Given the description of an element on the screen output the (x, y) to click on. 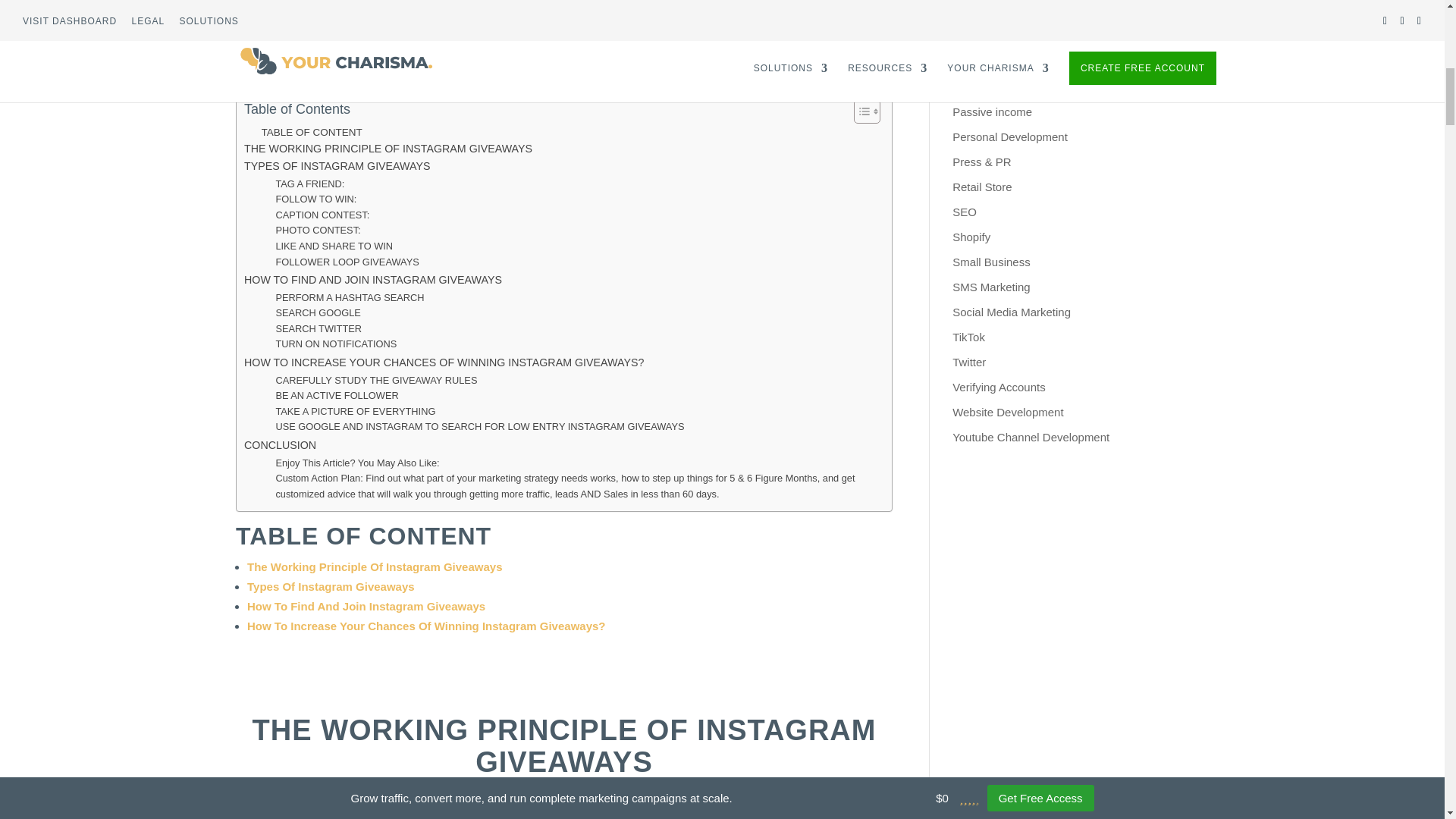
HOW TO FIND AND JOIN INSTAGRAM GIVEAWAYS (373, 280)
TAG A FRIEND: (309, 184)
TABLE OF CONTENT (310, 132)
TYPES OF INSTAGRAM GIVEAWAYS (336, 166)
FOLLOWER LOOP GIVEAWAYS (347, 262)
PERFORM A HASHTAG SEARCH (349, 298)
TYPES OF INSTAGRAM GIVEAWAYS (336, 166)
FOLLOW TO WIN: (315, 199)
LIKE AND SHARE TO WIN (334, 246)
PHOTO CONTEST: (317, 230)
THE WORKING PRINCIPLE OF INSTAGRAM GIVEAWAYS (388, 149)
THE WORKING PRINCIPLE OF INSTAGRAM GIVEAWAYS (388, 149)
SEARCH GOOGLE (318, 313)
CAPTION CONTEST: (322, 215)
TABLE OF CONTENT (310, 132)
